Given the description of an element on the screen output the (x, y) to click on. 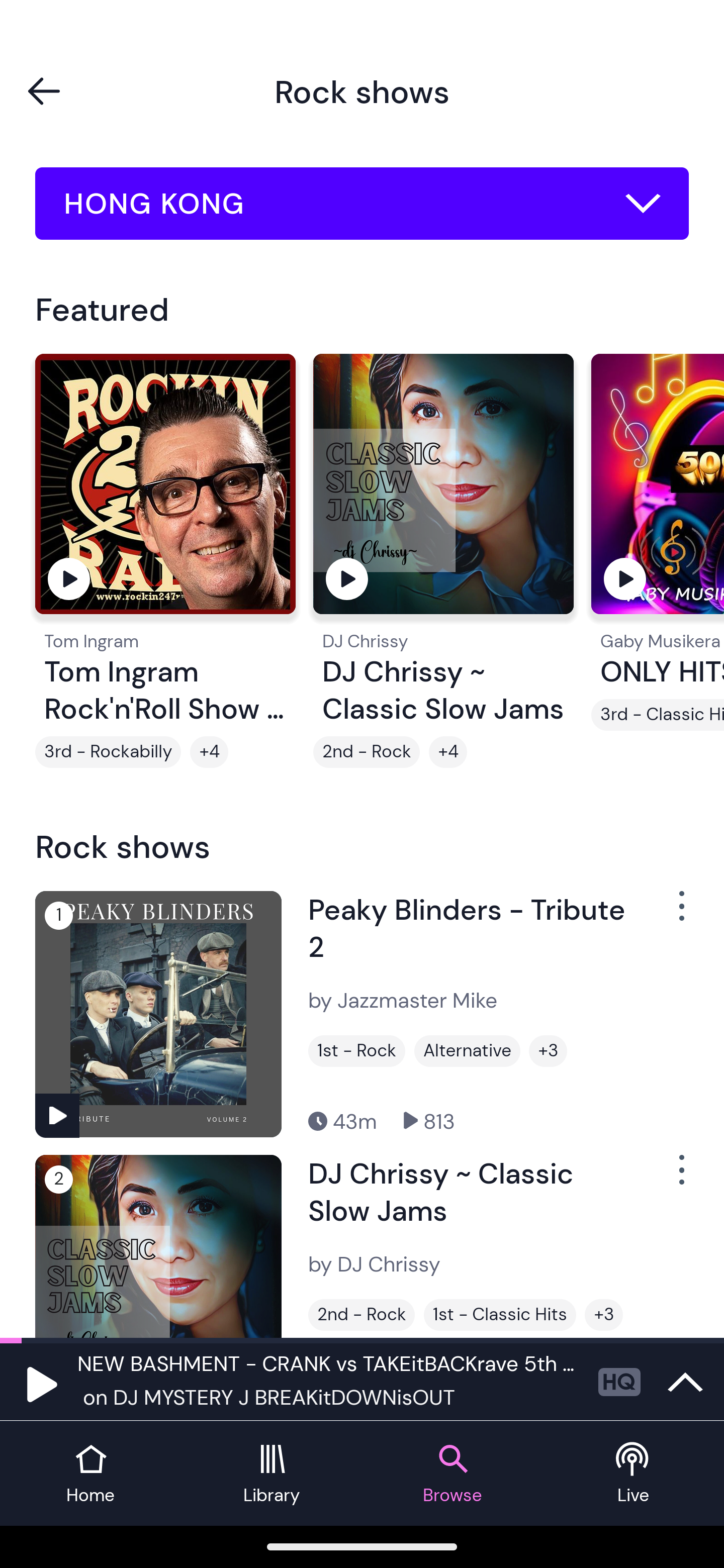
HONG KONG (361, 203)
3rd - Classic Hits (657, 714)
3rd - Rockabilly (108, 752)
2nd - Rock (366, 752)
Show Options Menu Button (679, 913)
1st - Rock (356, 1050)
Alternative (467, 1050)
Show Options Menu Button (679, 1178)
2nd - Rock (361, 1315)
1st - Classic Hits (499, 1315)
Home tab Home (90, 1473)
Library tab Library (271, 1473)
Browse tab Browse (452, 1473)
Live tab Live (633, 1473)
